Given the description of an element on the screen output the (x, y) to click on. 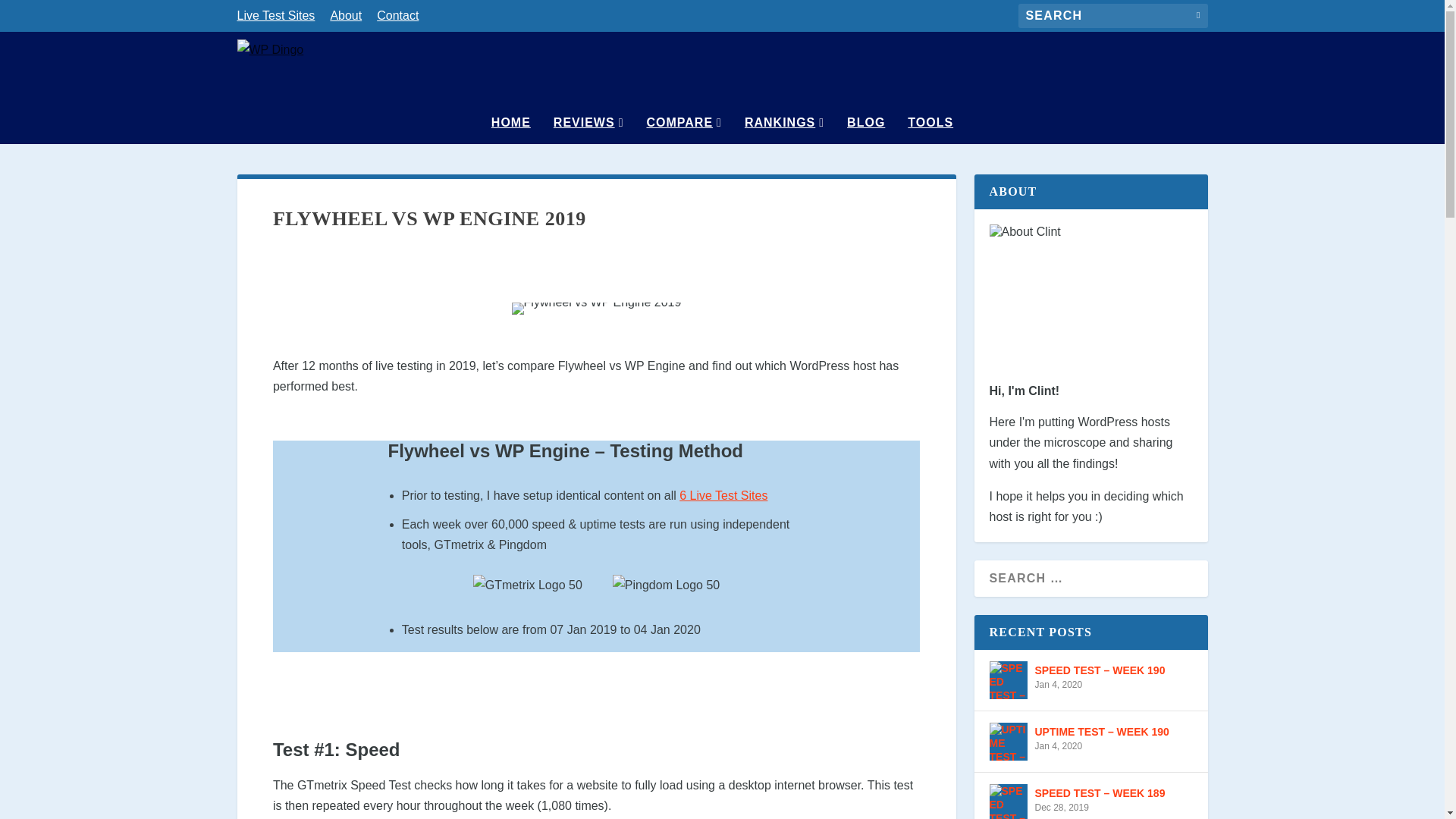
Contact (398, 18)
HOME (511, 130)
Flywheel vs WP Engine 2019 (596, 308)
About (345, 18)
Live Test Sites (274, 18)
REVIEWS (588, 130)
Search for: (1112, 15)
COMPARE (683, 130)
